Given the description of an element on the screen output the (x, y) to click on. 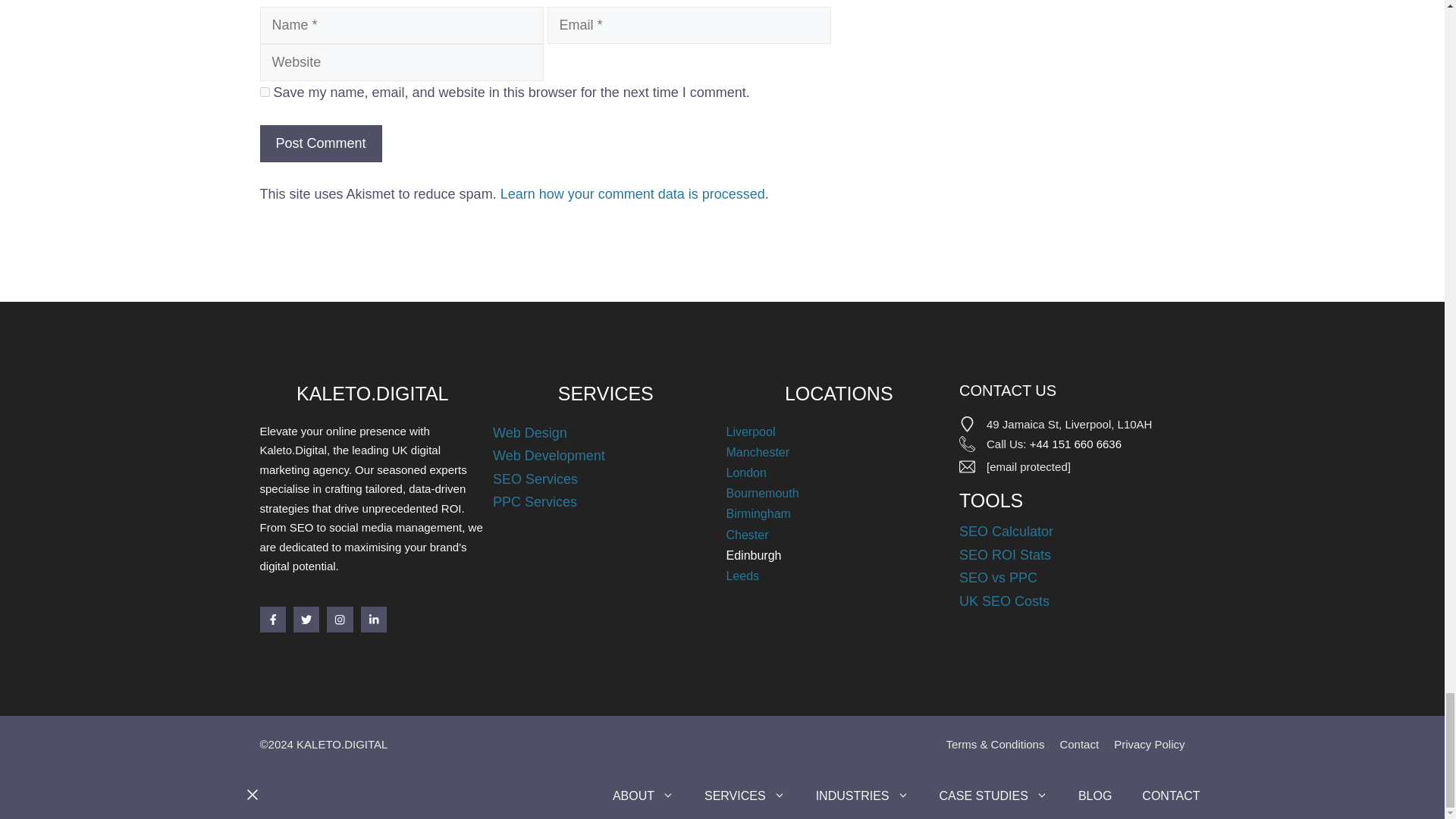
yes (264, 91)
Post Comment (320, 143)
